Given the description of an element on the screen output the (x, y) to click on. 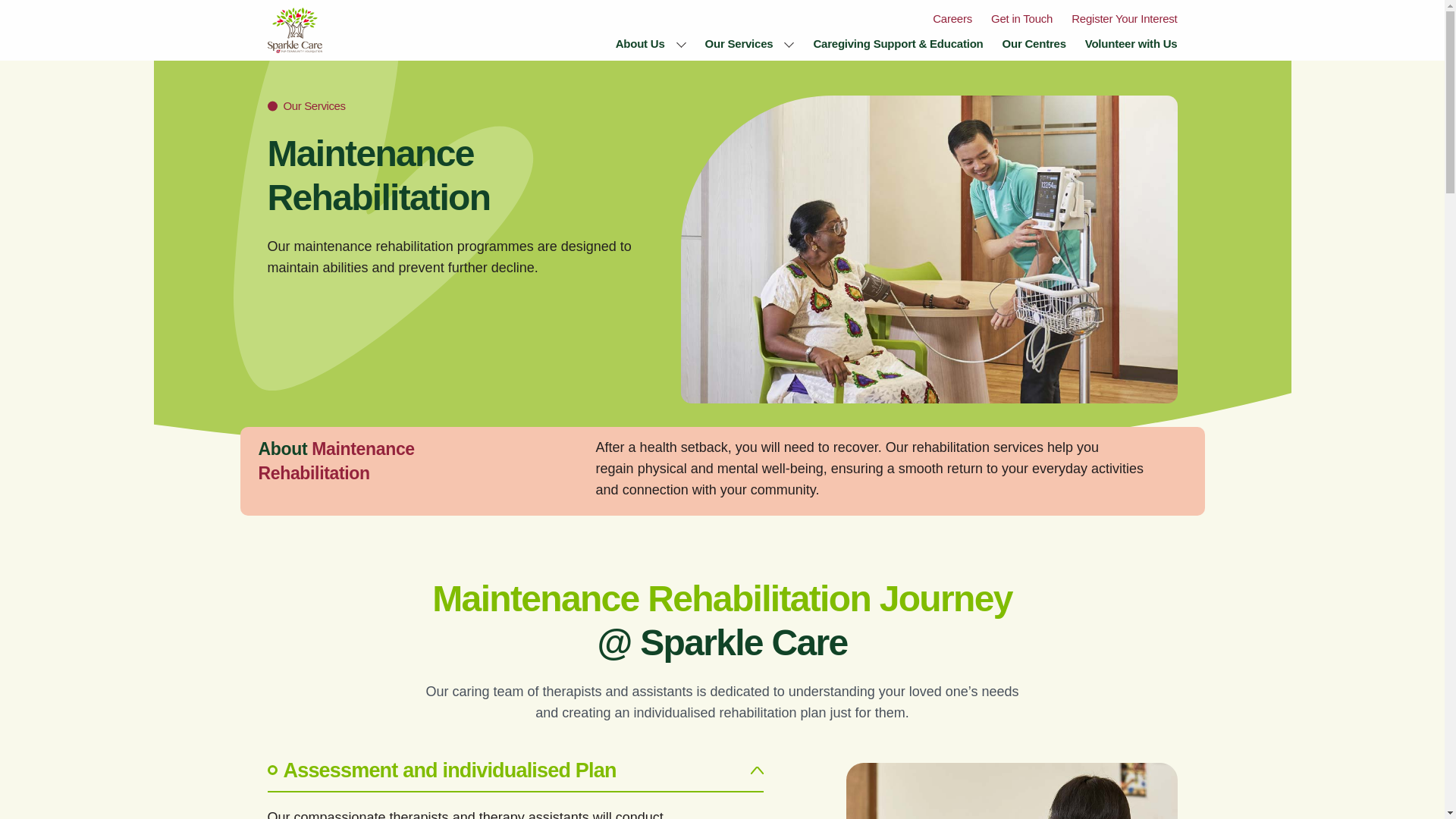
Careers (952, 18)
Get in Touch (1021, 18)
Register Your Interest (1123, 18)
Volunteer with Us (1130, 42)
Our Centres (1034, 42)
Our Services (738, 42)
